Given the description of an element on the screen output the (x, y) to click on. 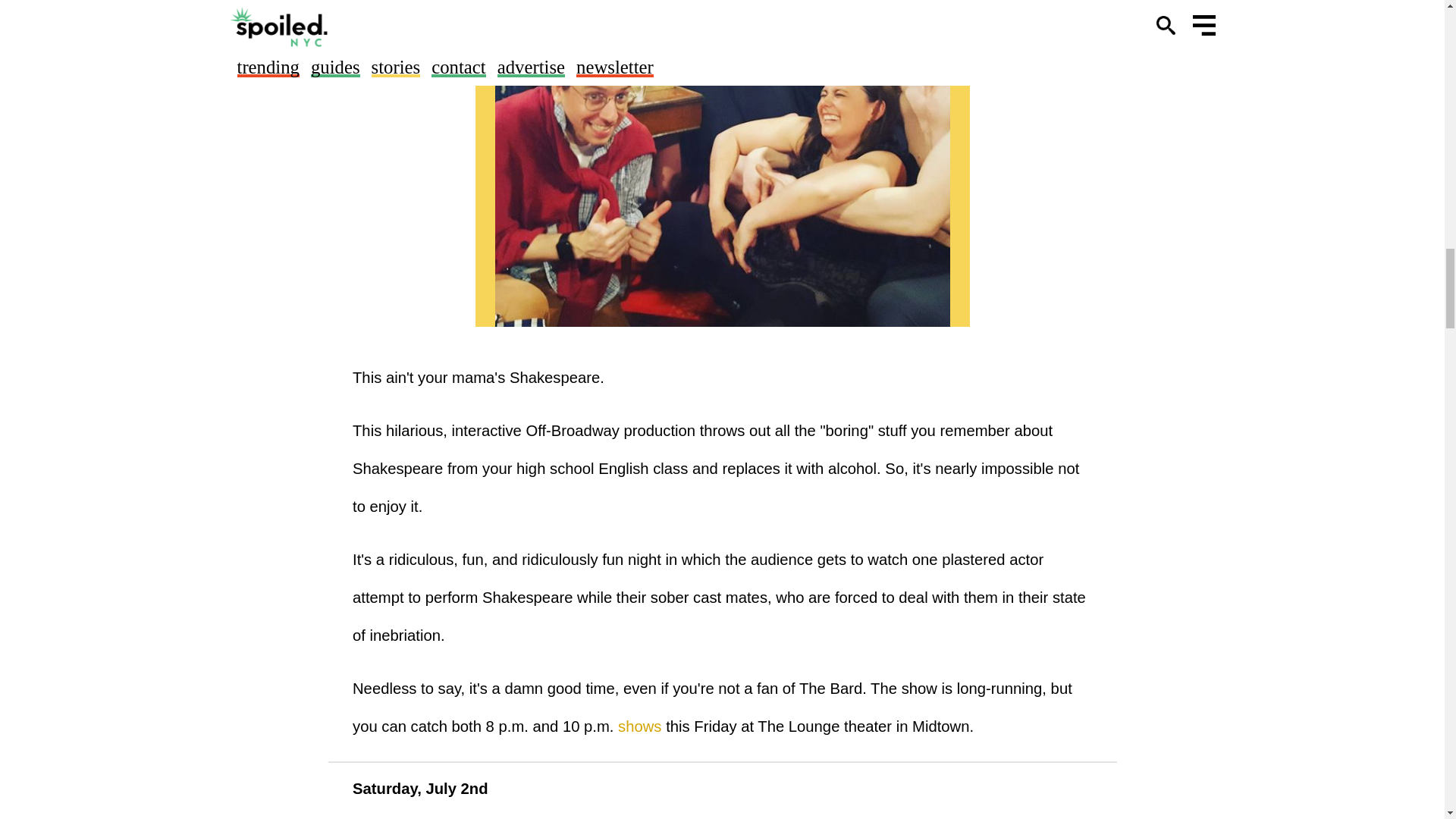
shows (639, 726)
